Given the description of an element on the screen output the (x, y) to click on. 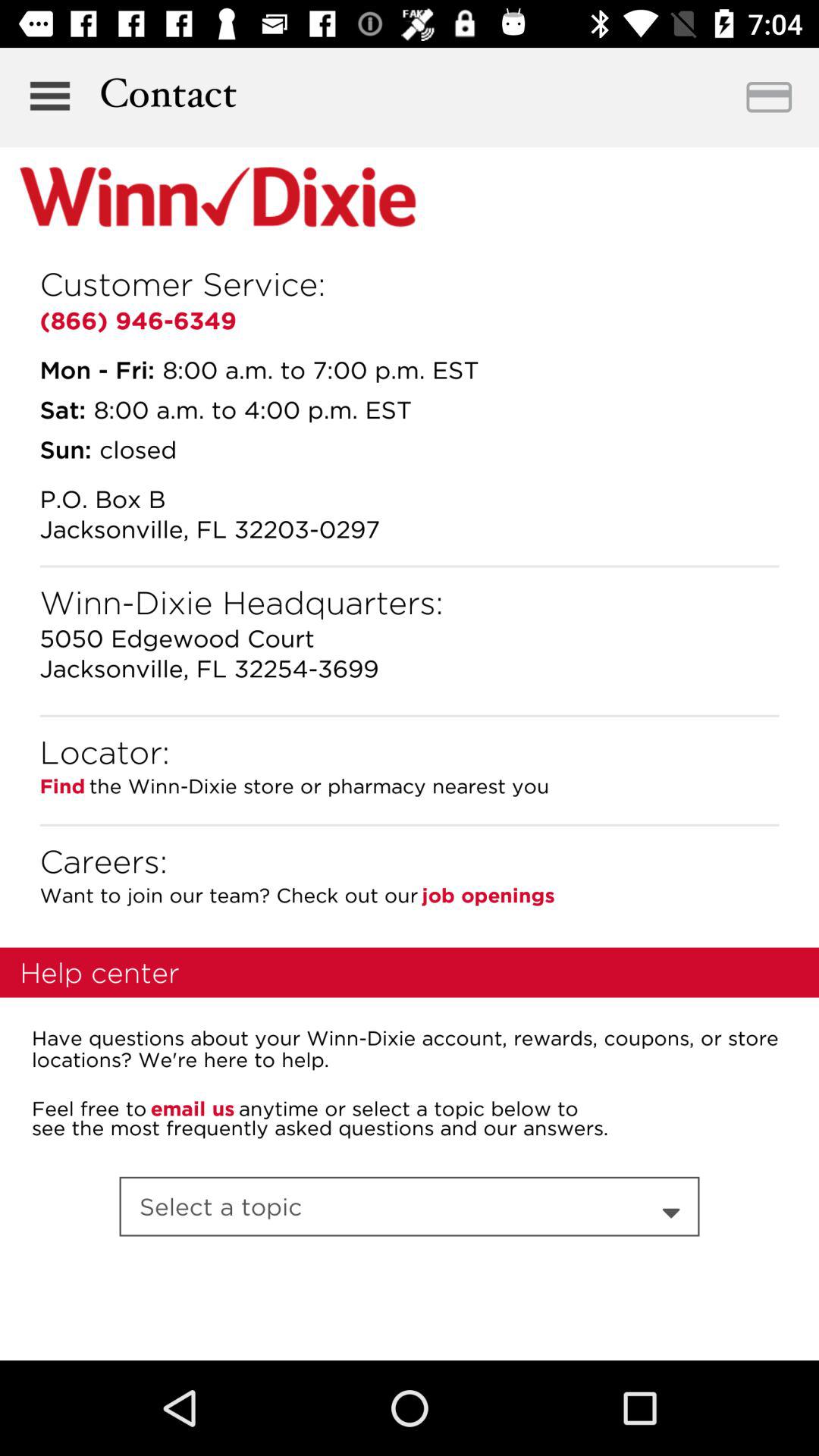
select icon below the mon - fri: (62, 409)
